Given the description of an element on the screen output the (x, y) to click on. 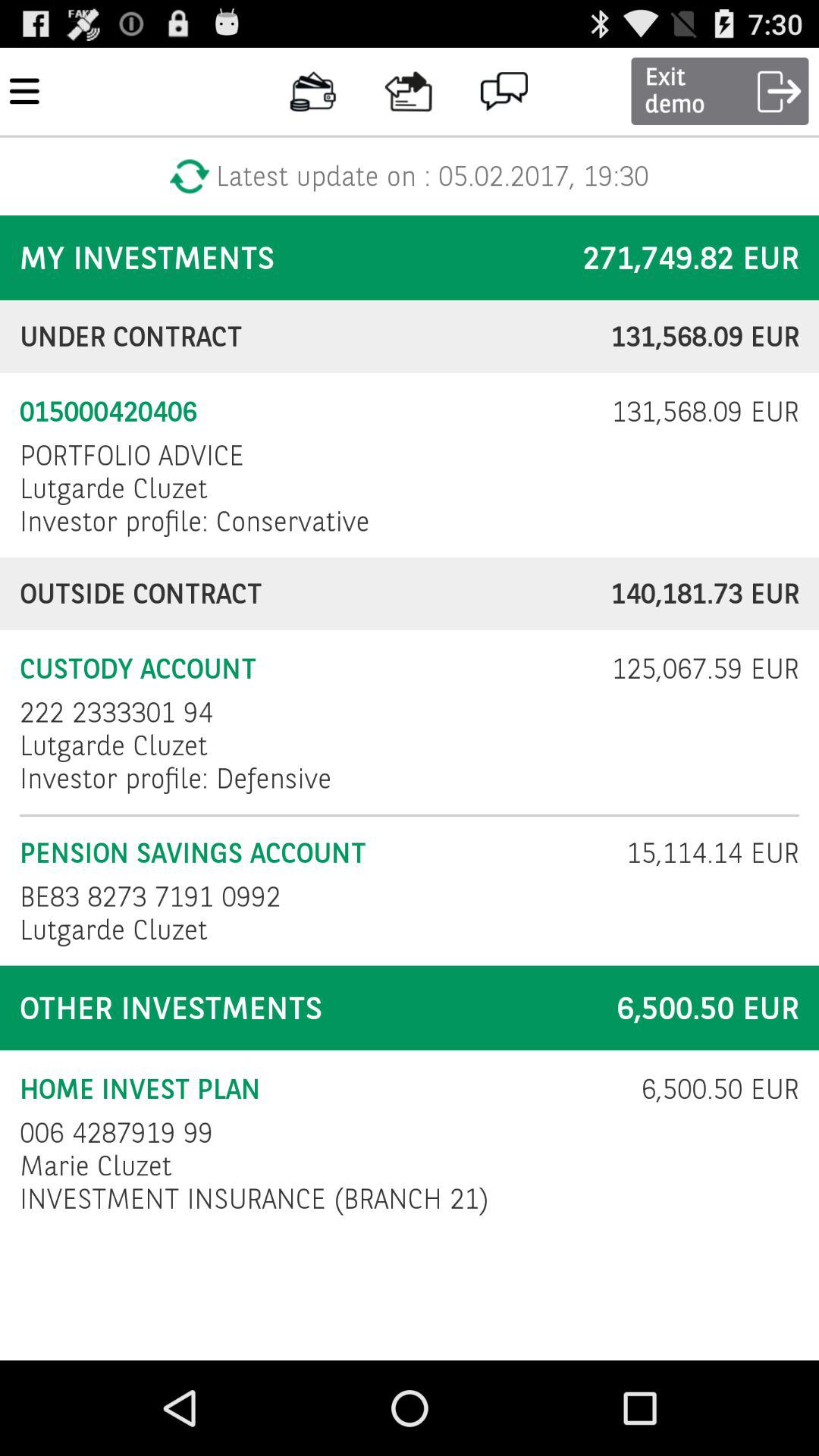
press checkbox to the left of 125 067 59 icon (305, 668)
